Given the description of an element on the screen output the (x, y) to click on. 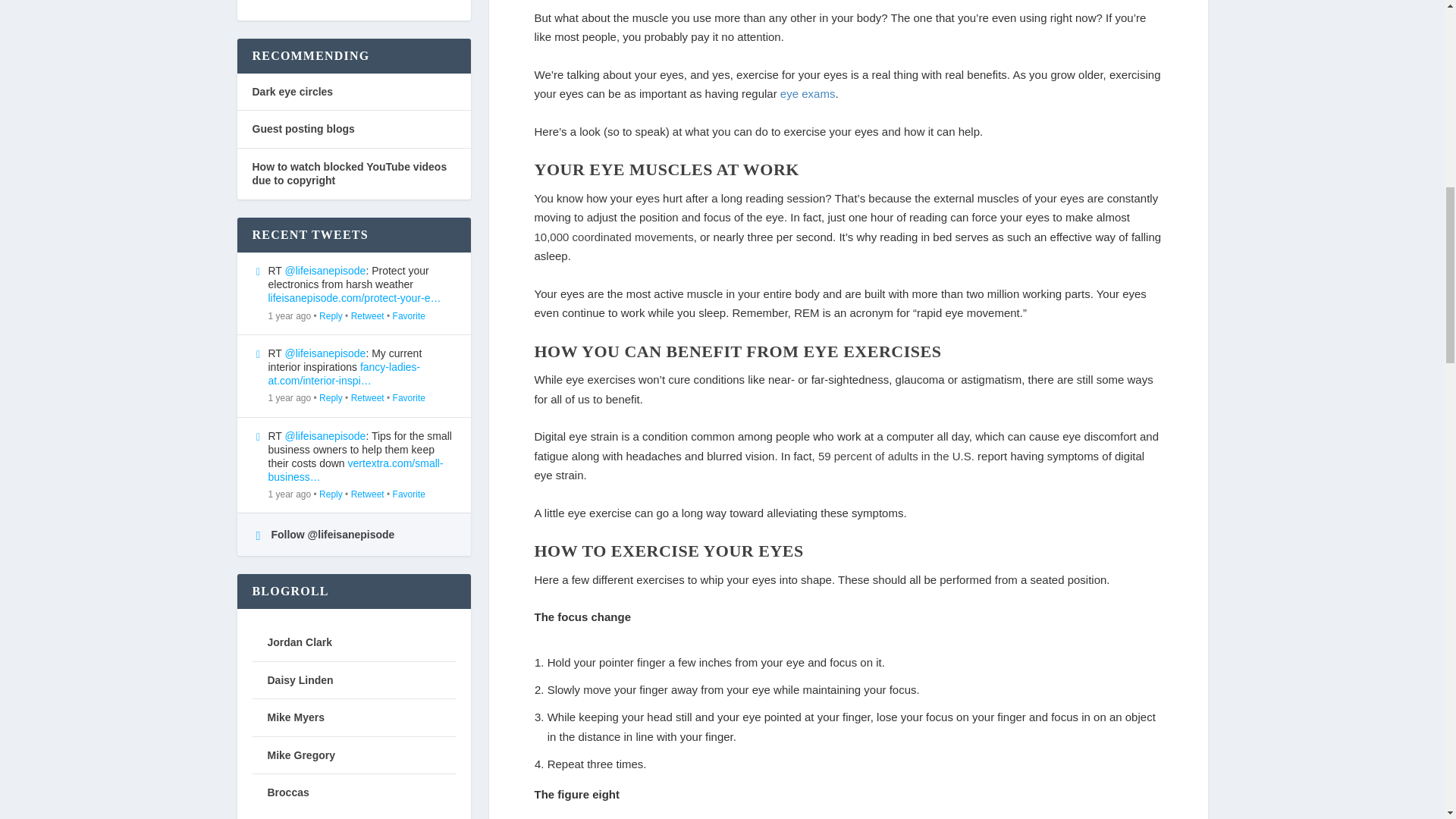
10,000 coordinated movements (613, 236)
59 percent of adults in the U.S. (896, 455)
eye exams (807, 92)
